Given the description of an element on the screen output the (x, y) to click on. 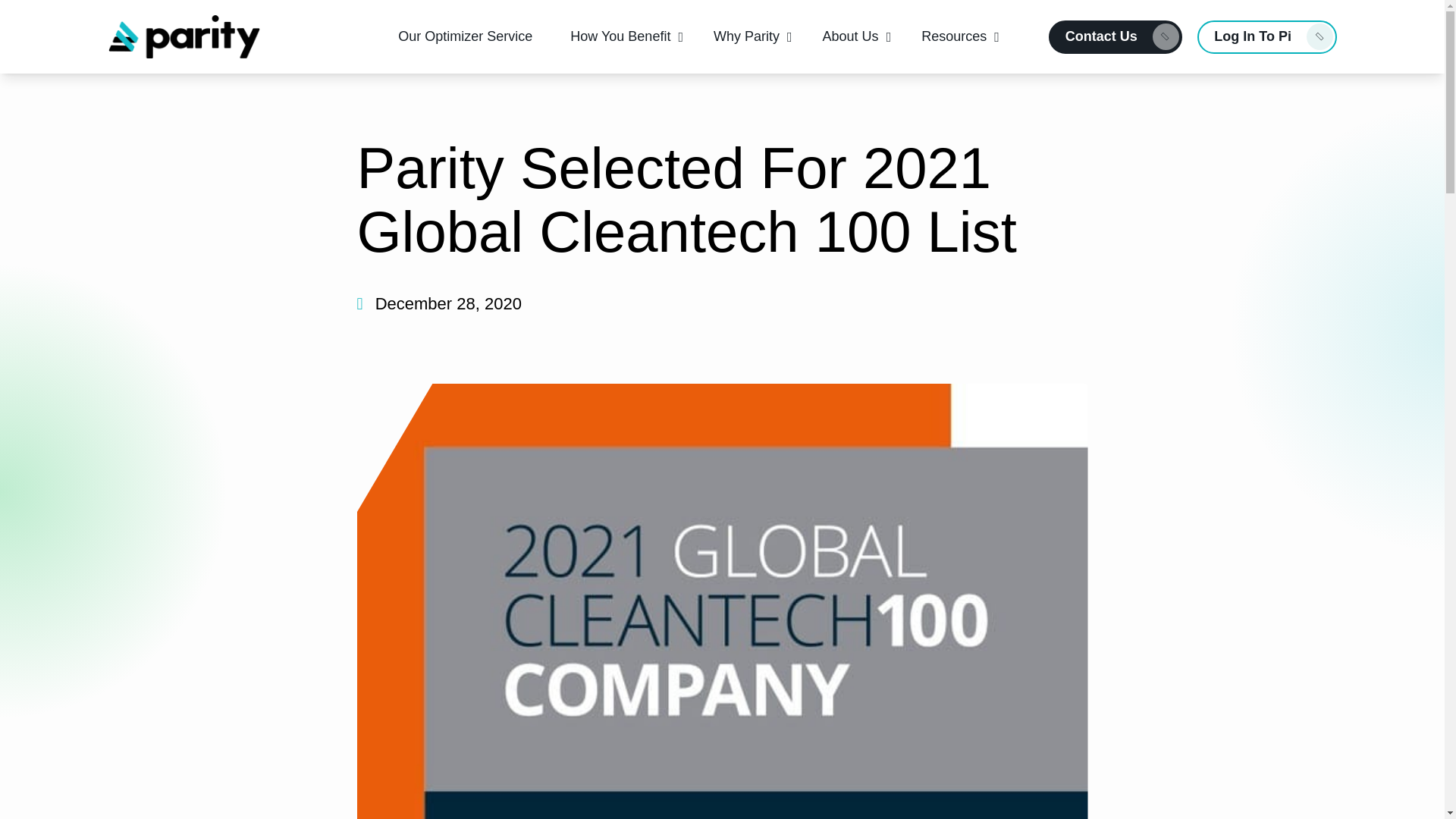
Why Parity (746, 36)
Our Optimizer Service (465, 36)
Contact Us (1115, 36)
About Us (850, 36)
Log In To Pi (1266, 36)
How You Benefit (620, 36)
Resources (954, 36)
